Given the description of an element on the screen output the (x, y) to click on. 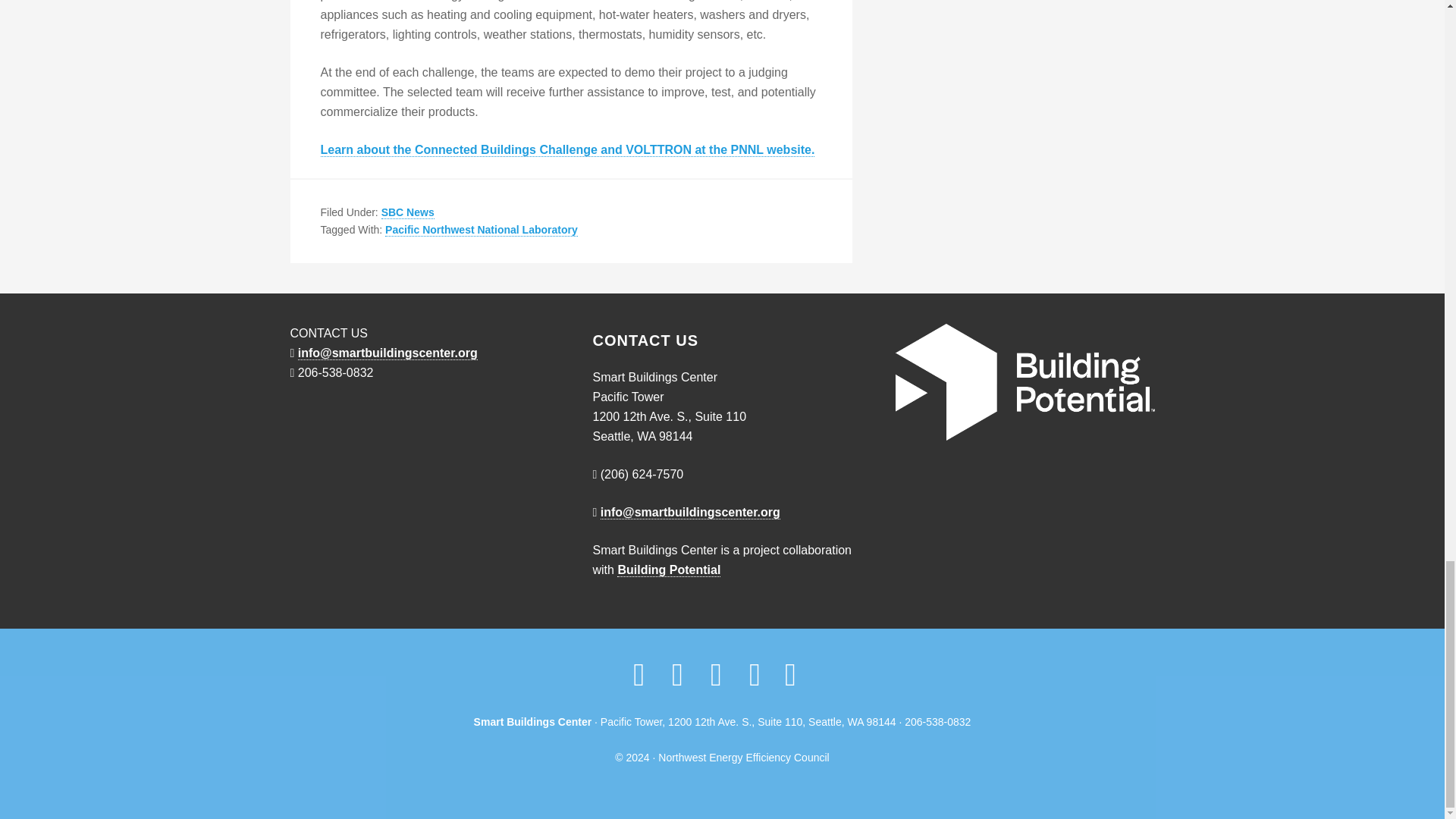
LinkedIn (790, 681)
